Given the description of an element on the screen output the (x, y) to click on. 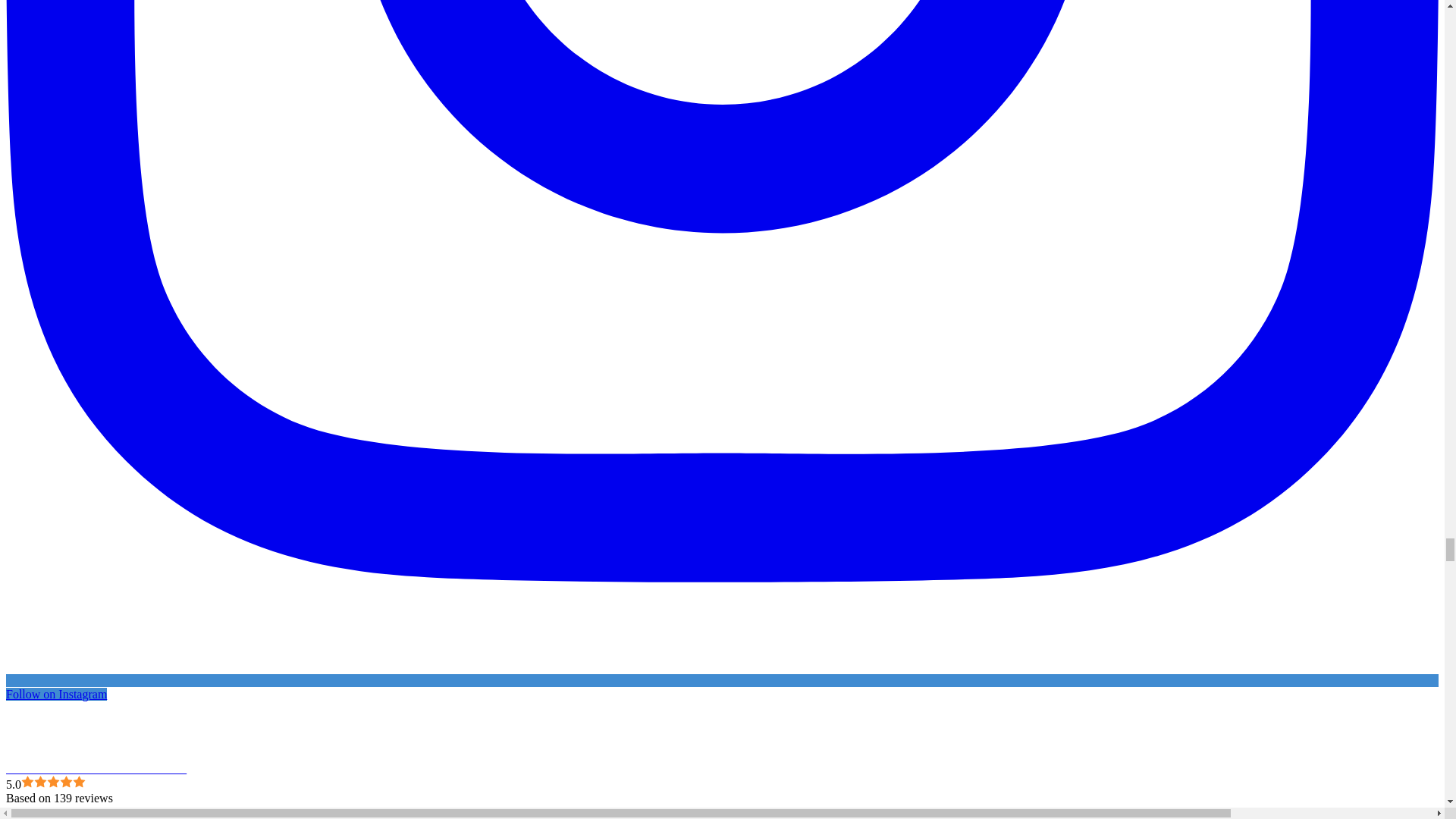
powered by Google (60, 812)
